Given the description of an element on the screen output the (x, y) to click on. 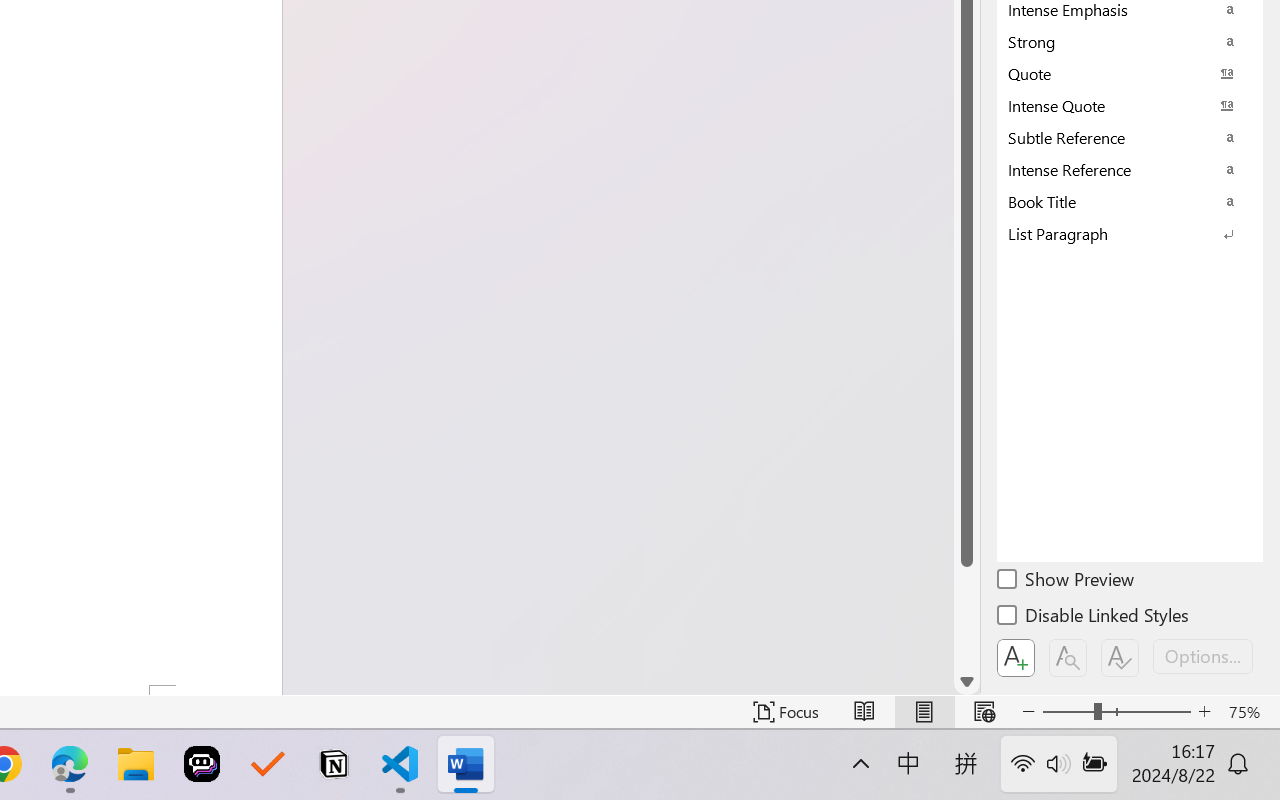
Page down (966, 617)
Class: NetUIButton (1119, 657)
Intense Quote (1130, 105)
Subtle Reference (1130, 137)
